Given the description of an element on the screen output the (x, y) to click on. 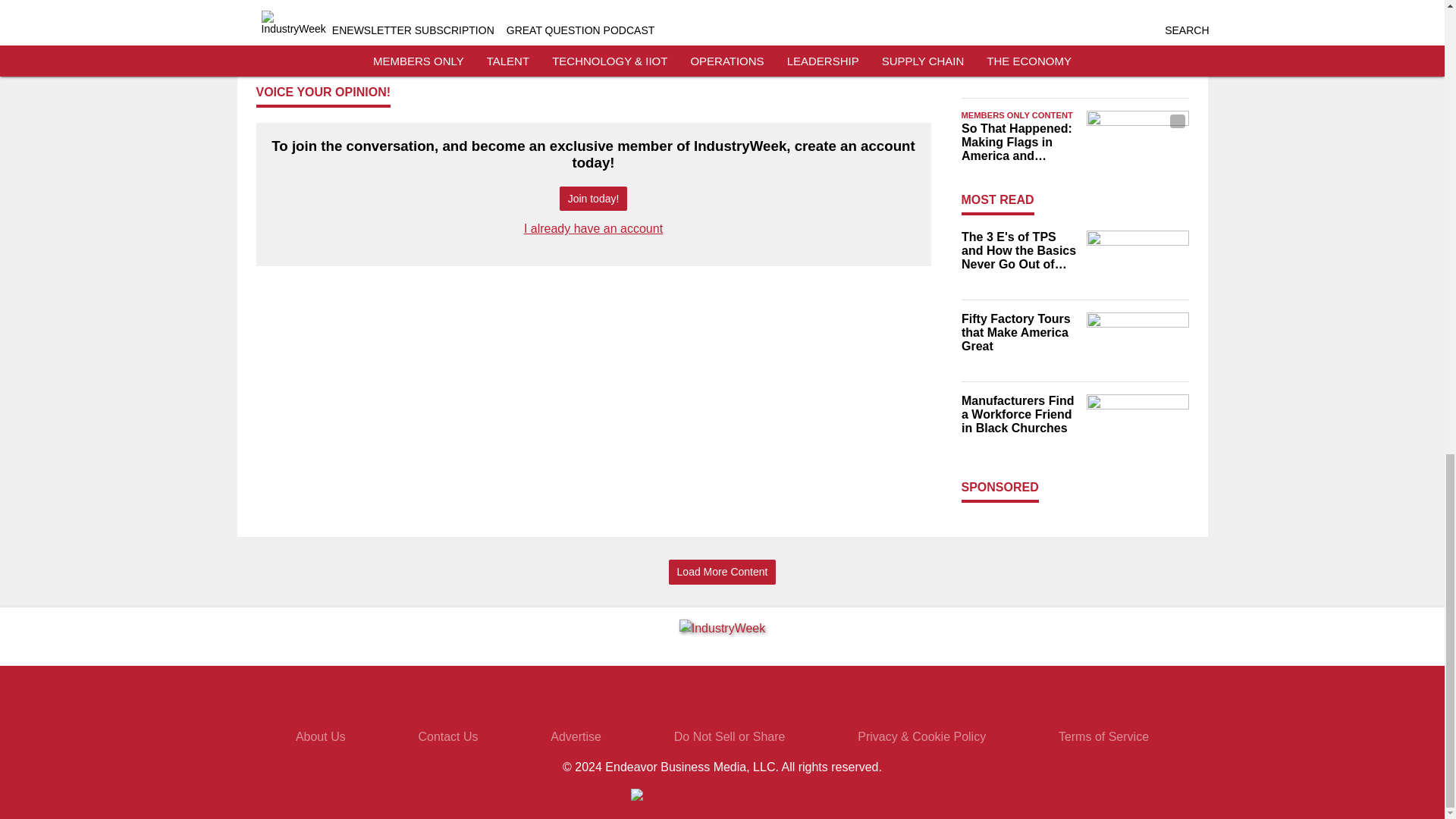
Join today! (593, 198)
Reshoring Takes Hold Across Multiple Industries (1019, 48)
I already have an account (593, 228)
The 3 E's of TPS and How the Basics Never Go Out of Style (1019, 250)
